Given the description of an element on the screen output the (x, y) to click on. 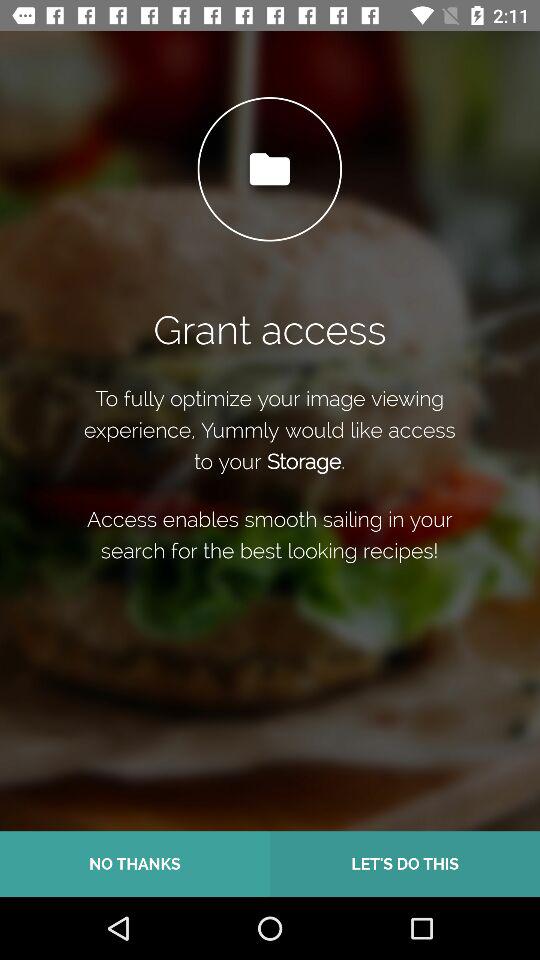
tap item next to the let s do icon (135, 863)
